Given the description of an element on the screen output the (x, y) to click on. 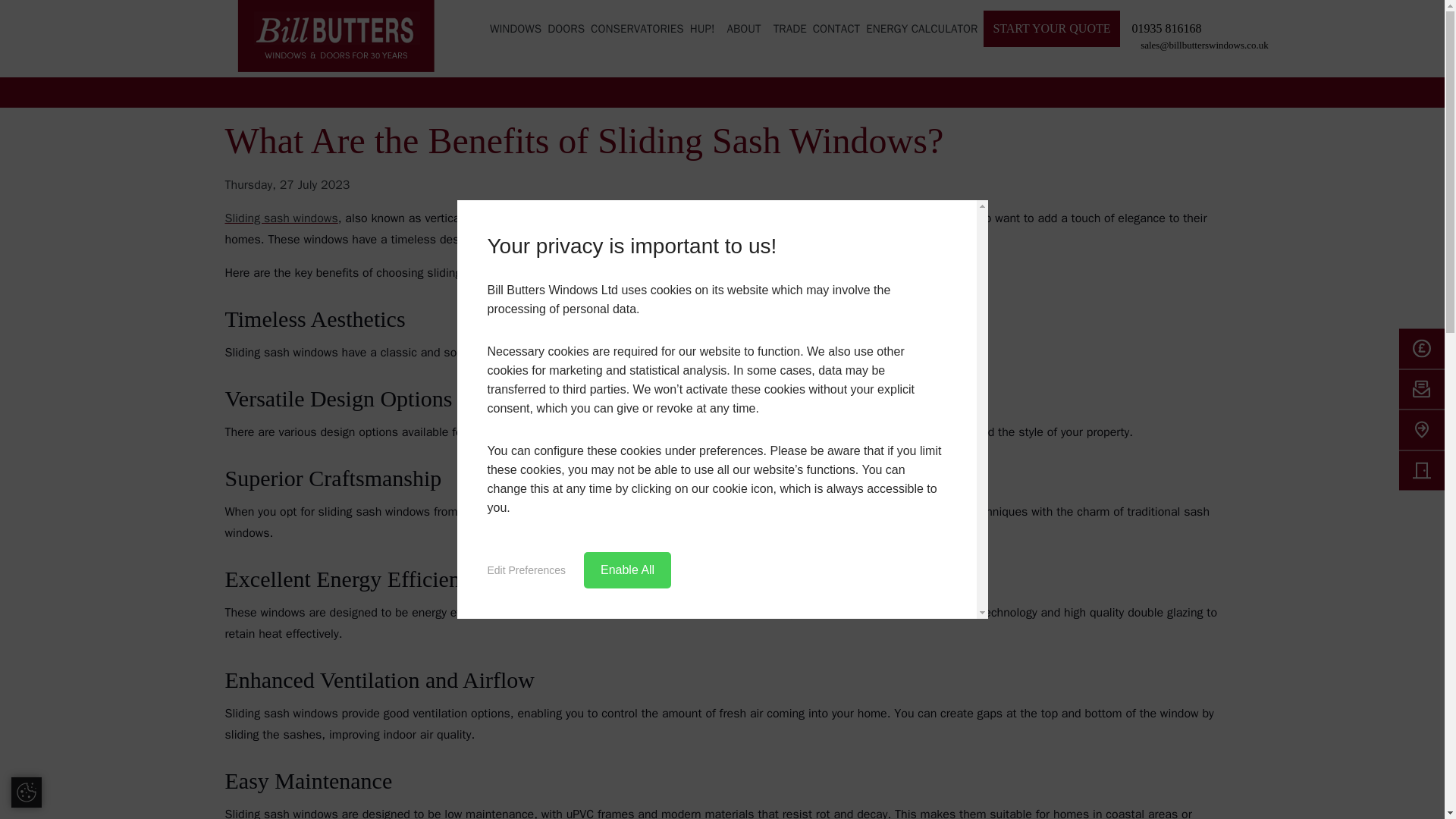
CONSERVATORIES (637, 34)
START YOUR QUOTE (1051, 28)
ABOUT (743, 34)
01935 816168 (1163, 28)
TRADE (789, 28)
HUP! (702, 28)
ENERGY CALCULATOR (921, 28)
WINDOWS (515, 34)
CONTACT (836, 28)
DOORS (566, 34)
